Given the description of an element on the screen output the (x, y) to click on. 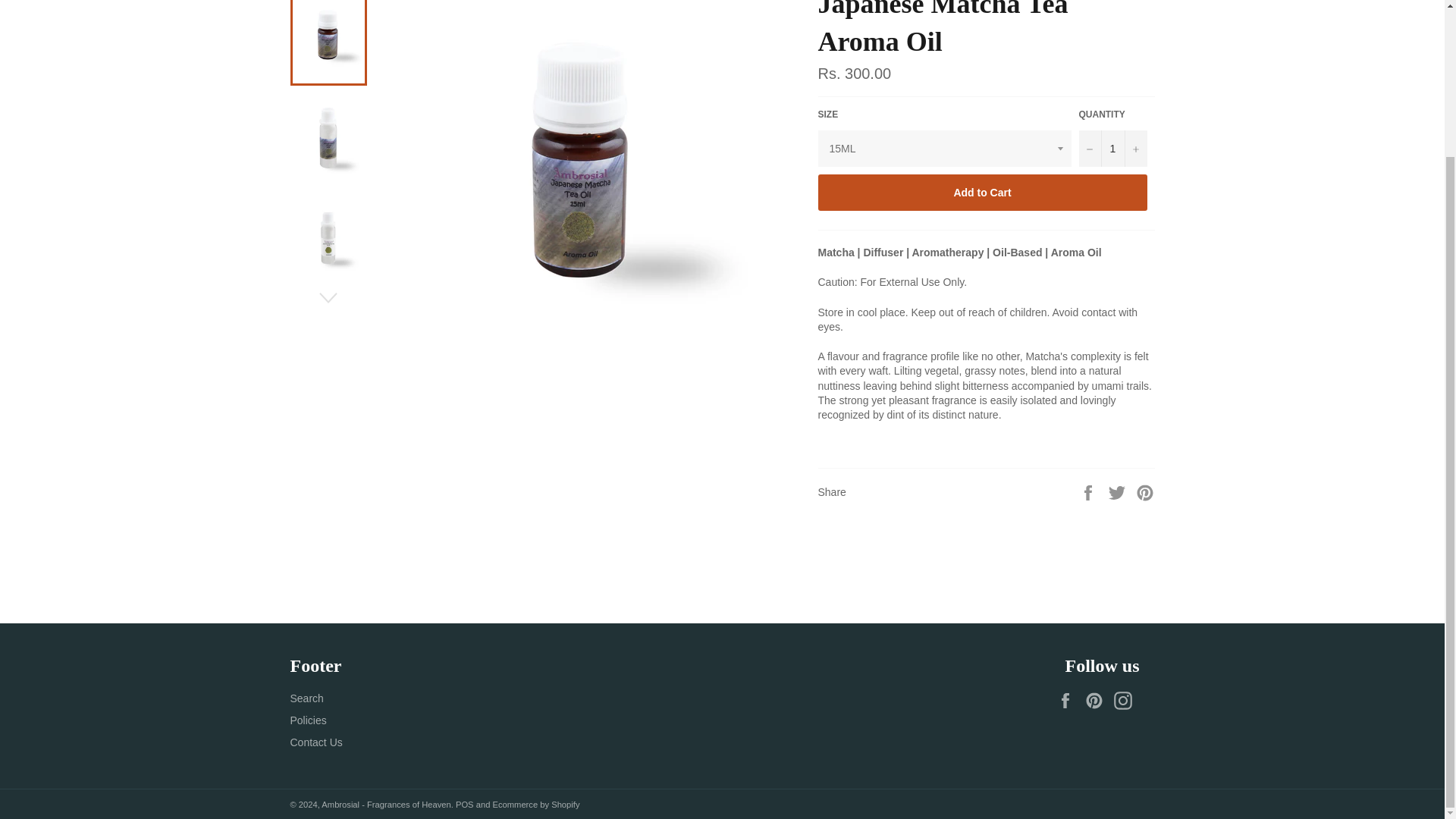
Tweet on Twitter (1118, 491)
Share on Facebook (1089, 491)
Ambrosial - Fragrances of Heaven on Facebook (1069, 700)
Ambrosial - Fragrances of Heaven on Pinterest (1097, 700)
1 (1112, 148)
Ambrosial - Fragrances of Heaven on Instagram (1125, 700)
Pin on Pinterest (1144, 491)
